Given the description of an element on the screen output the (x, y) to click on. 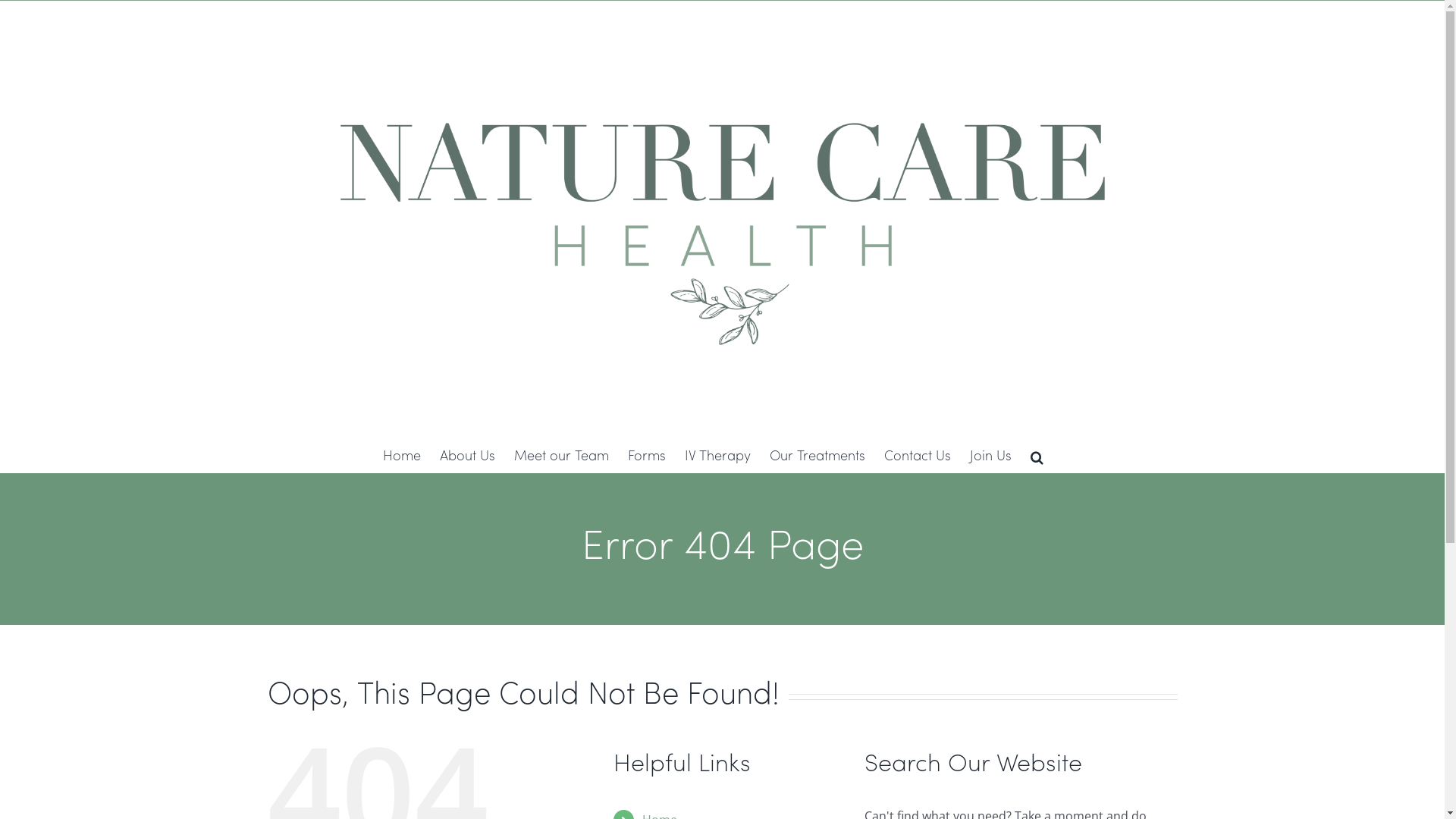
Contact Us Element type: text (917, 457)
Join Us Element type: text (989, 457)
Home Element type: text (401, 457)
Meet our Team Element type: text (561, 457)
Forms Element type: text (646, 457)
IV Therapy Element type: text (716, 457)
Search Element type: hover (1035, 457)
Our Treatments Element type: text (816, 457)
About Us Element type: text (467, 457)
